Given the description of an element on the screen output the (x, y) to click on. 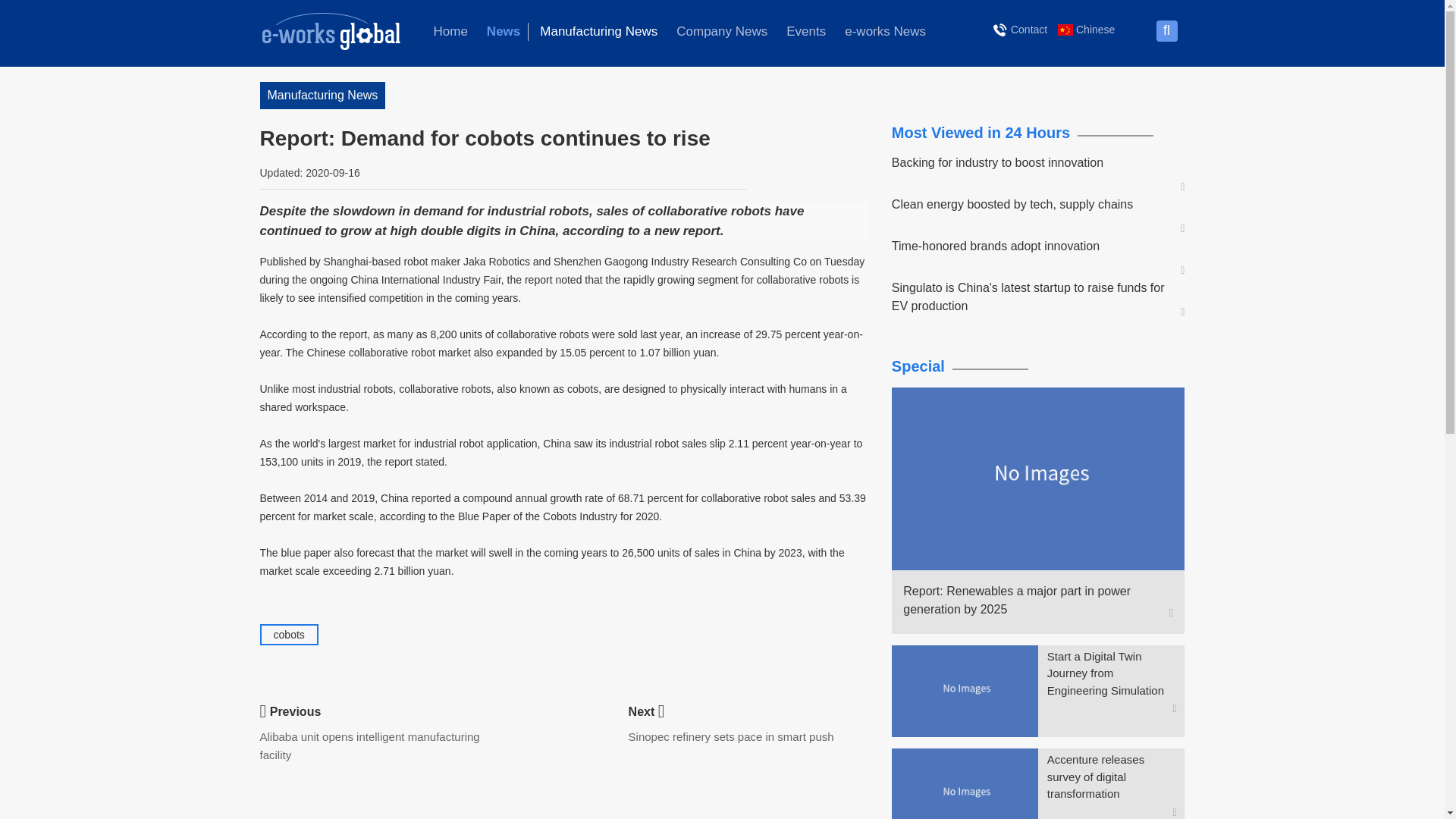
Time-honored brands adopt innovation (1030, 246)
cobots (288, 634)
Events (805, 31)
Sinopec refinery sets pace in smart push (731, 736)
Home (451, 31)
Clean energy boosted by tech, supply chains (1030, 204)
Company News (721, 31)
e-works News (885, 31)
Manufacturing News (598, 31)
Start a Digital Twin Journey from Engineering Simulation (1111, 674)
Contact (1020, 29)
Accenture releases survey of digital transformation (1111, 777)
Backing for industry to boost innovation (1030, 162)
Alibaba unit opens intelligent manufacturing facility (369, 745)
Report: Renewables a major part in power generation by 2025 (1030, 600)
